Given the description of an element on the screen output the (x, y) to click on. 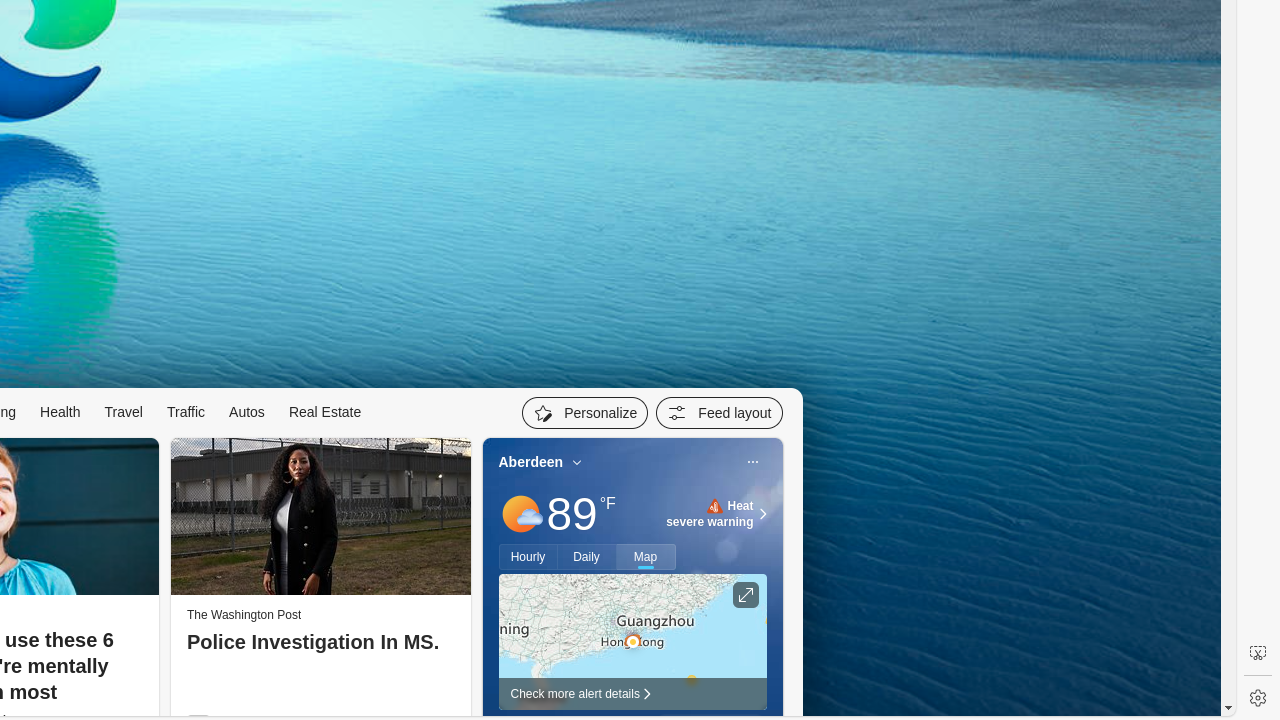
Screenshot Element type: push-button (1258, 653)
Aberdeen Element type: link (531, 462)
Autos Element type: link (247, 412)
Settings Element type: push-button (1258, 698)
The Washington Post Element type: link (243, 615)
